Given the description of an element on the screen output the (x, y) to click on. 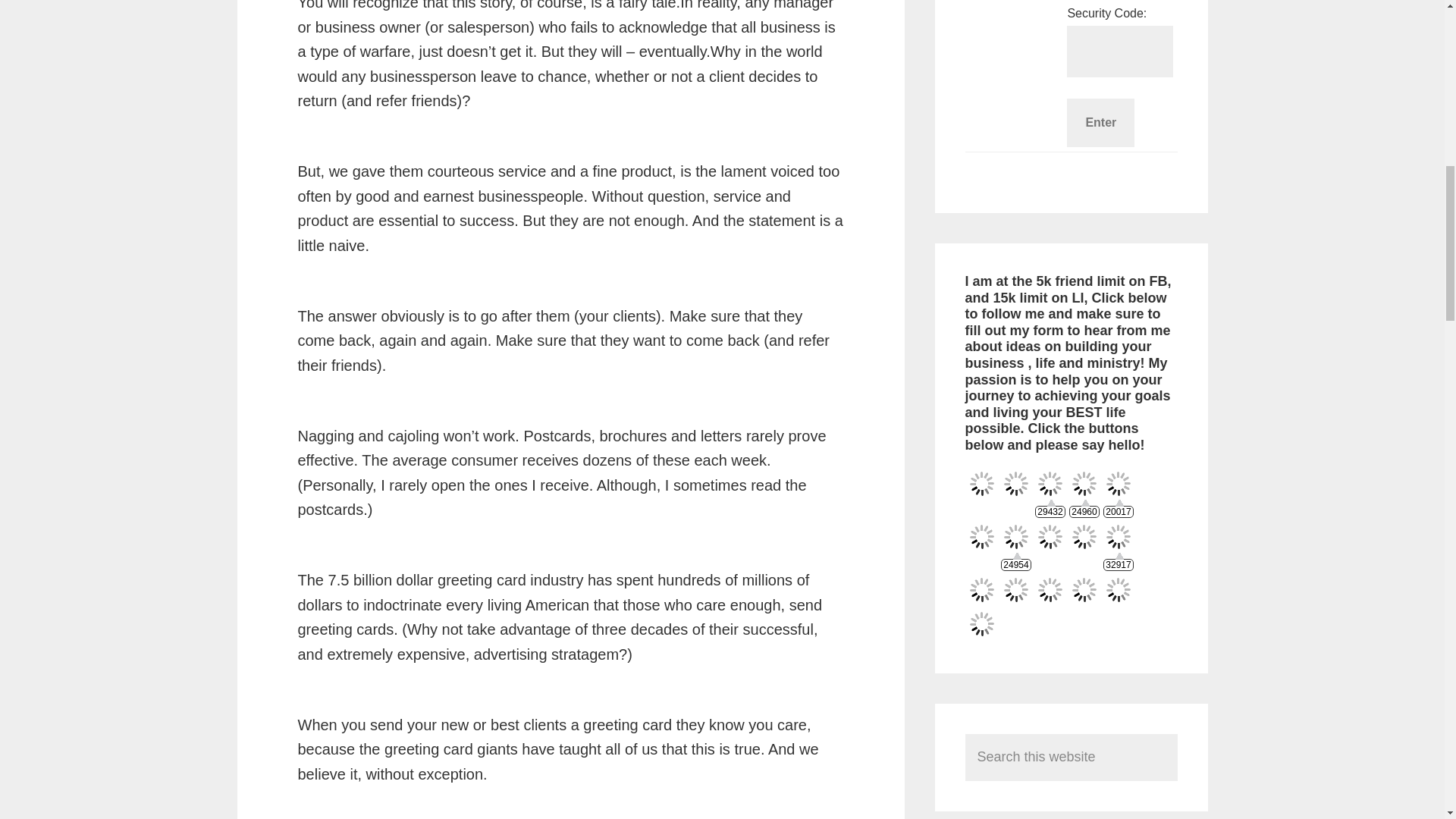
Enter (1100, 122)
Soundcloud (1083, 536)
Snapchat (1050, 536)
Enter (1100, 122)
